Given the description of an element on the screen output the (x, y) to click on. 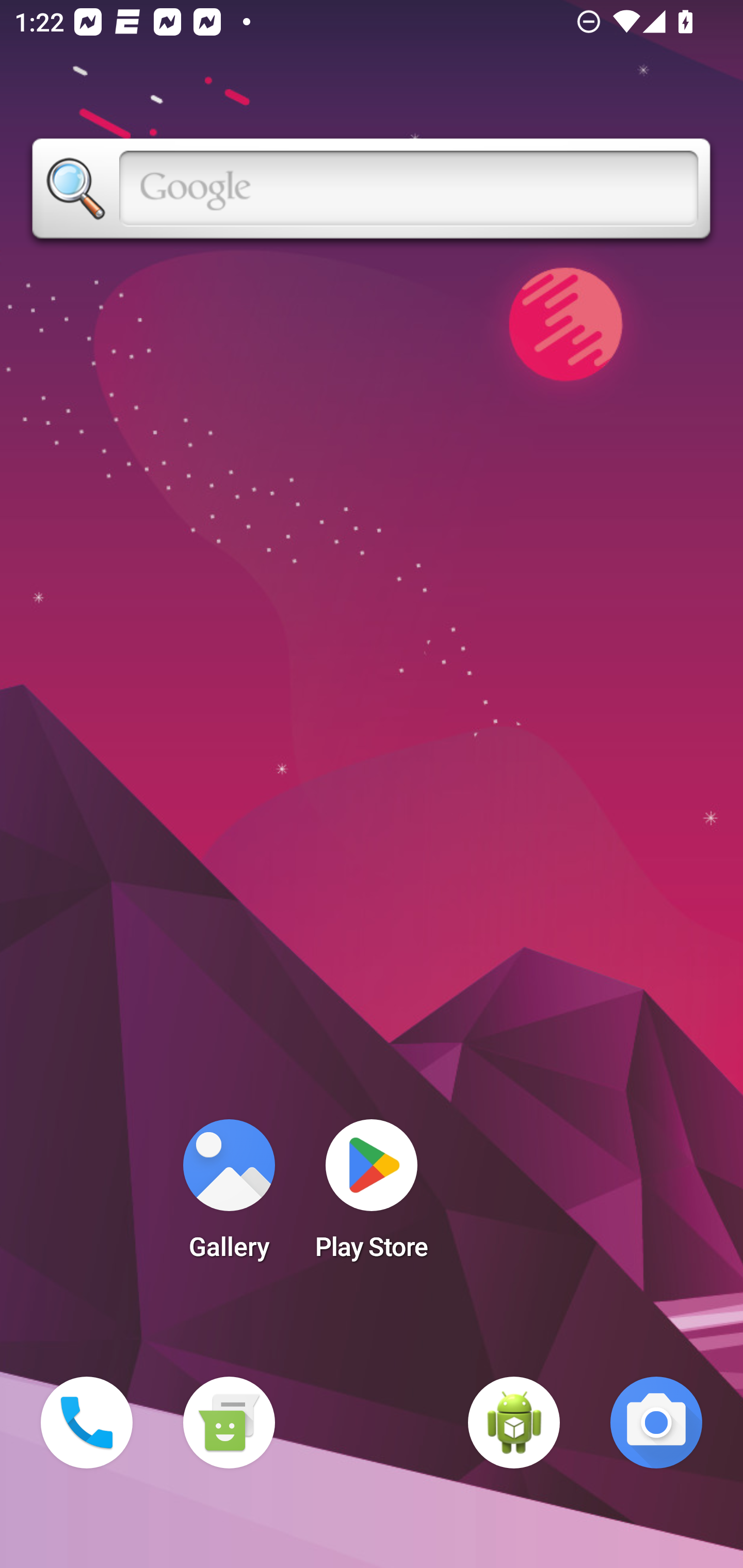
Gallery (228, 1195)
Play Store (371, 1195)
Phone (86, 1422)
Messaging (228, 1422)
WebView Browser Tester (513, 1422)
Camera (656, 1422)
